Given the description of an element on the screen output the (x, y) to click on. 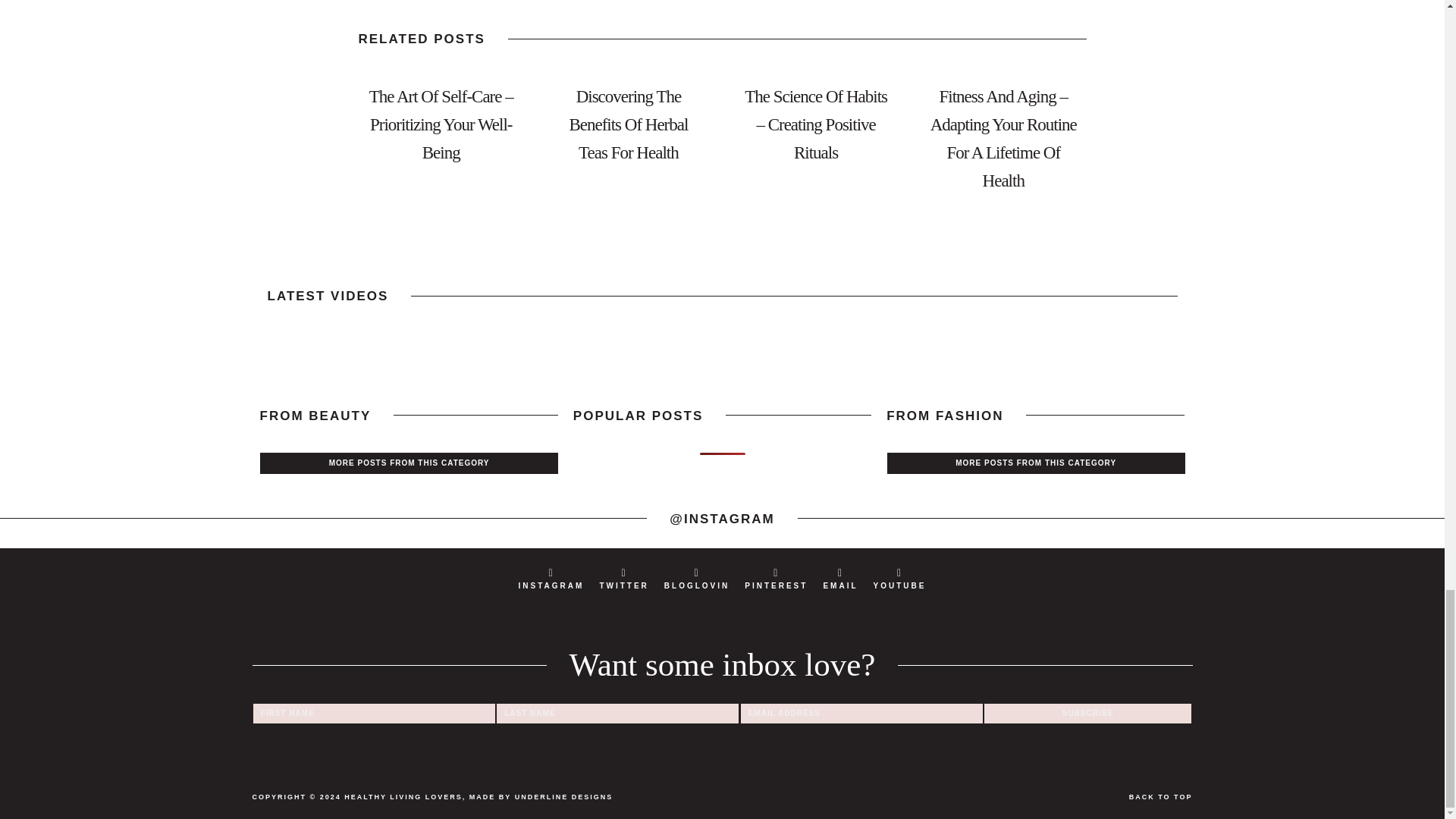
Discovering The Benefits Of Herbal Teas For Health (628, 125)
INSTAGRAM (551, 578)
MORE POSTS FROM THIS CATEGORY (1035, 463)
Healthy Living Lovers (403, 796)
Subscribe (1087, 713)
Subscribe (1087, 713)
TWITTER (623, 578)
BLOGLOVIN (696, 578)
PINTEREST (775, 578)
Underline Designs (563, 796)
